Given the description of an element on the screen output the (x, y) to click on. 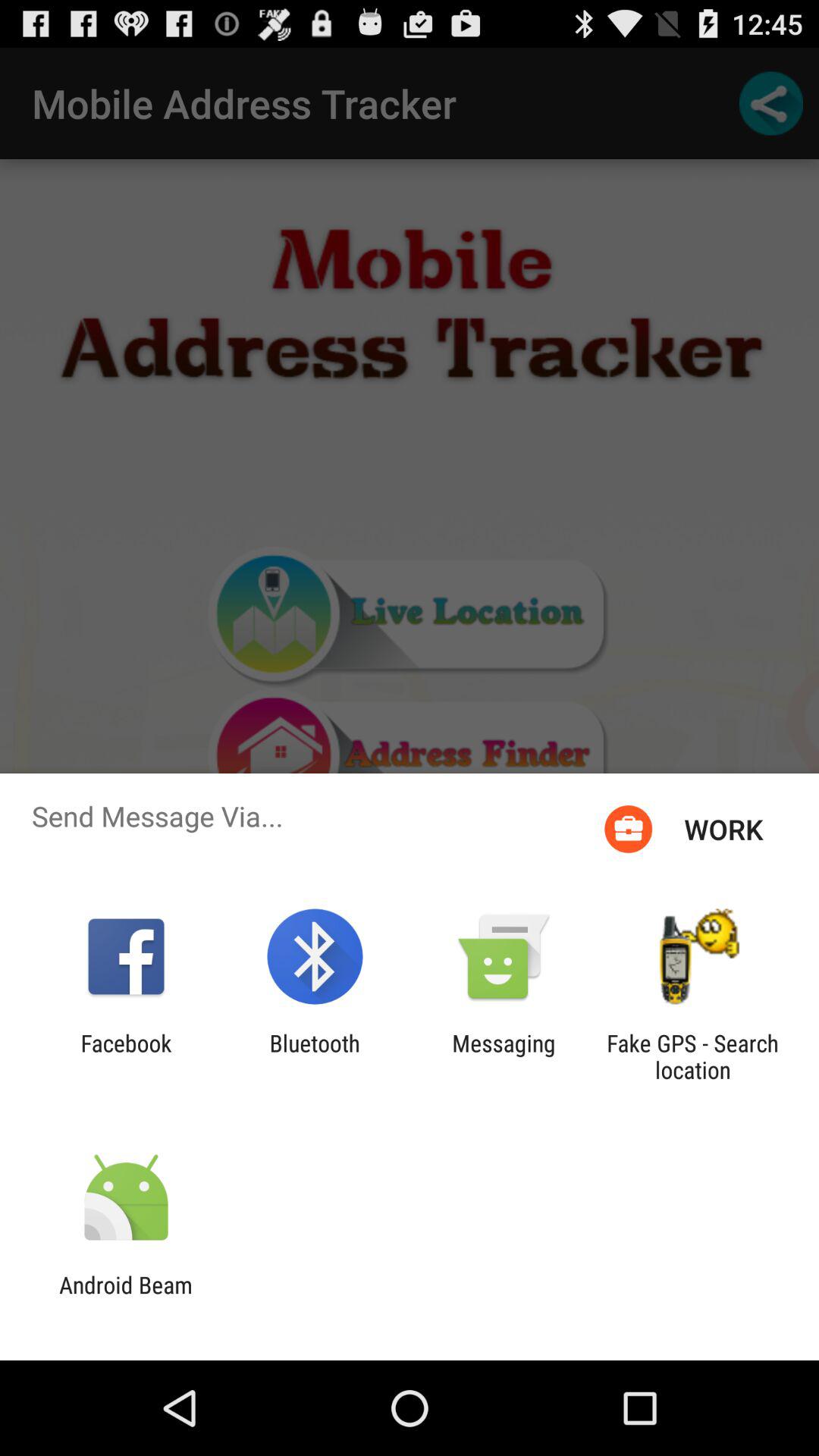
open the fake gps search (692, 1056)
